Given the description of an element on the screen output the (x, y) to click on. 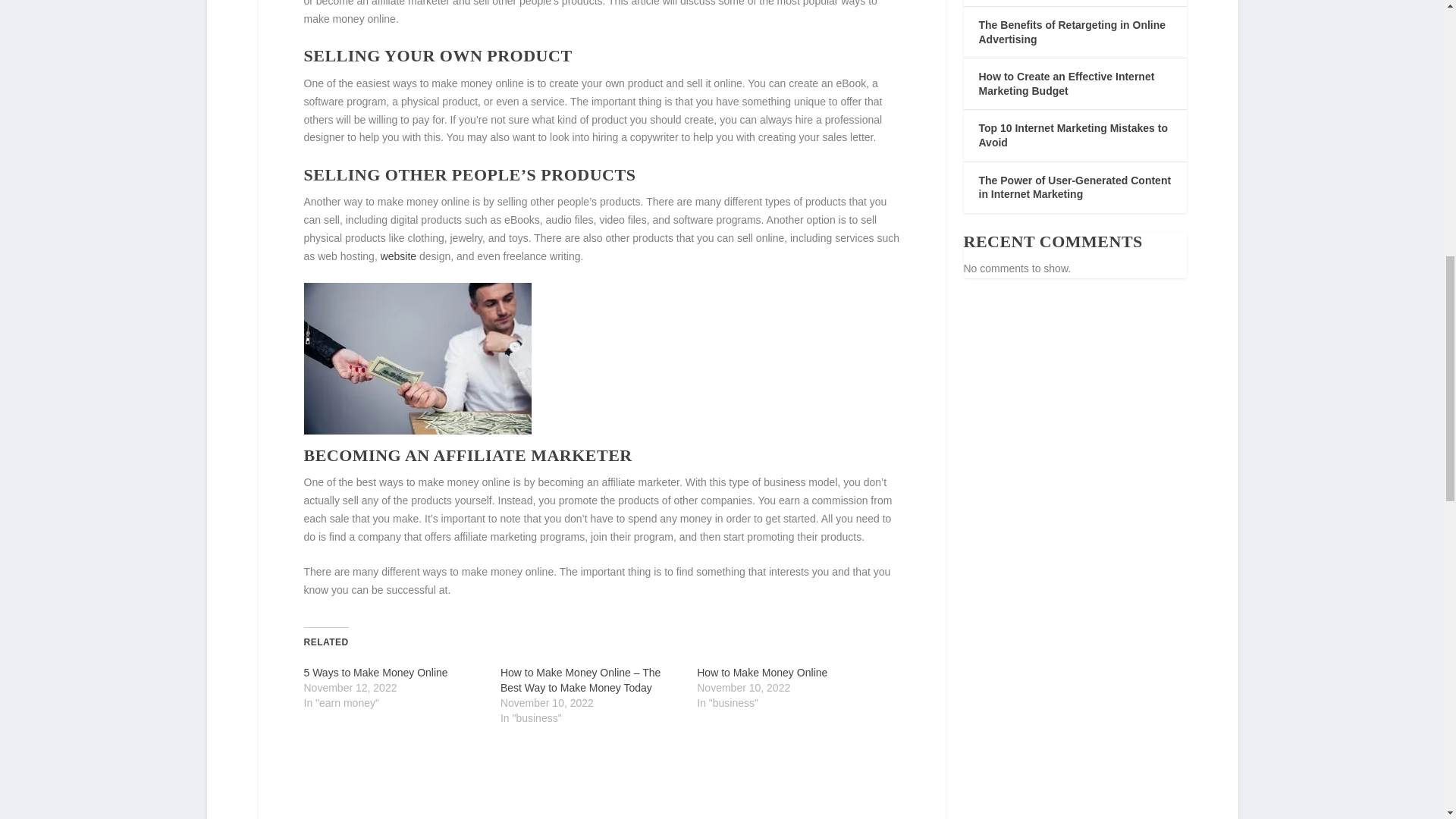
website (398, 256)
5 Ways to Make Money Online (374, 672)
5 Ways to Make Money Online (374, 672)
How to Make Money Online (762, 672)
How to Make Money Online (762, 672)
